Given the description of an element on the screen output the (x, y) to click on. 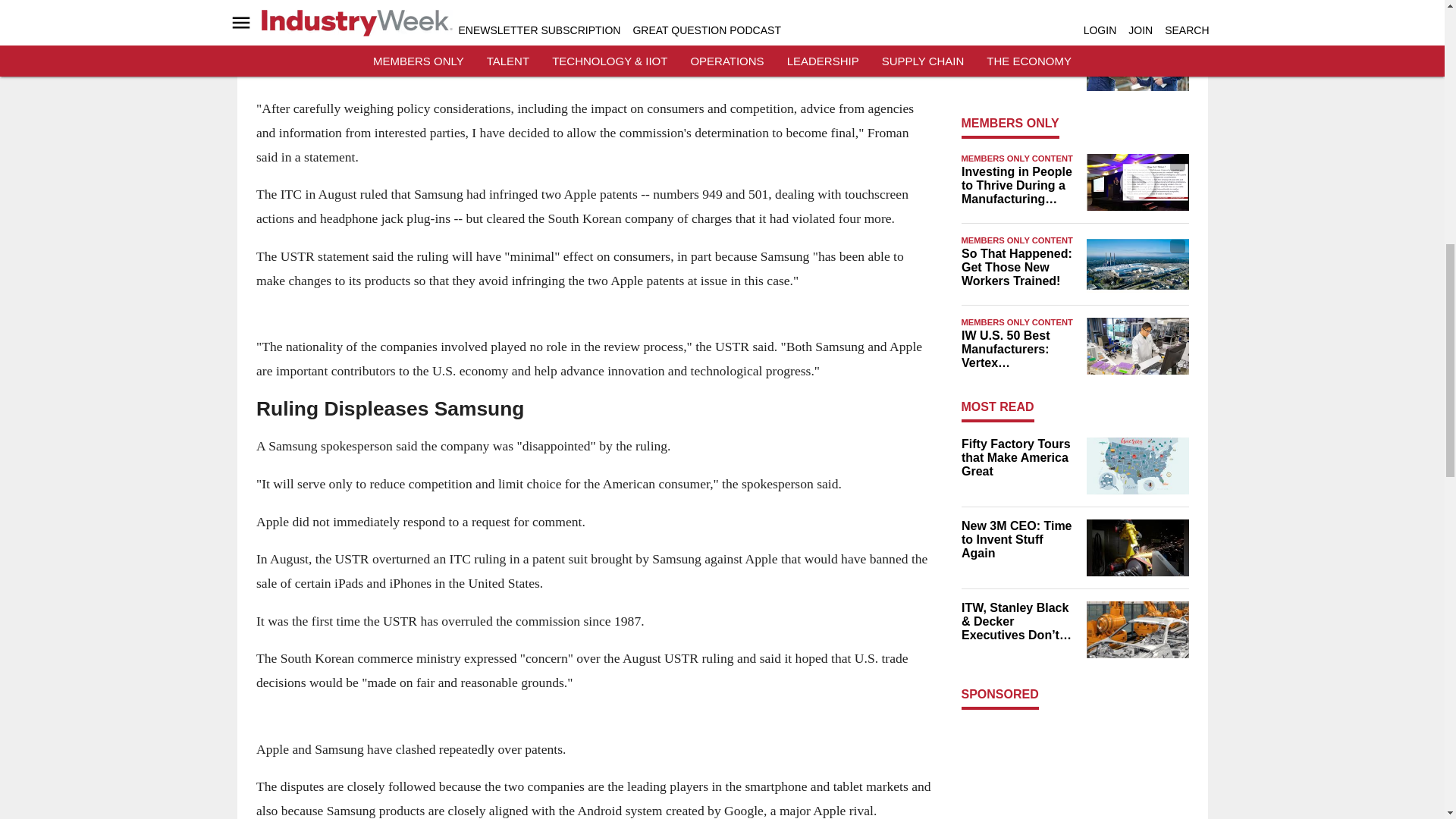
Phil Powell, Indiana University (1137, 181)
